Given the description of an element on the screen output the (x, y) to click on. 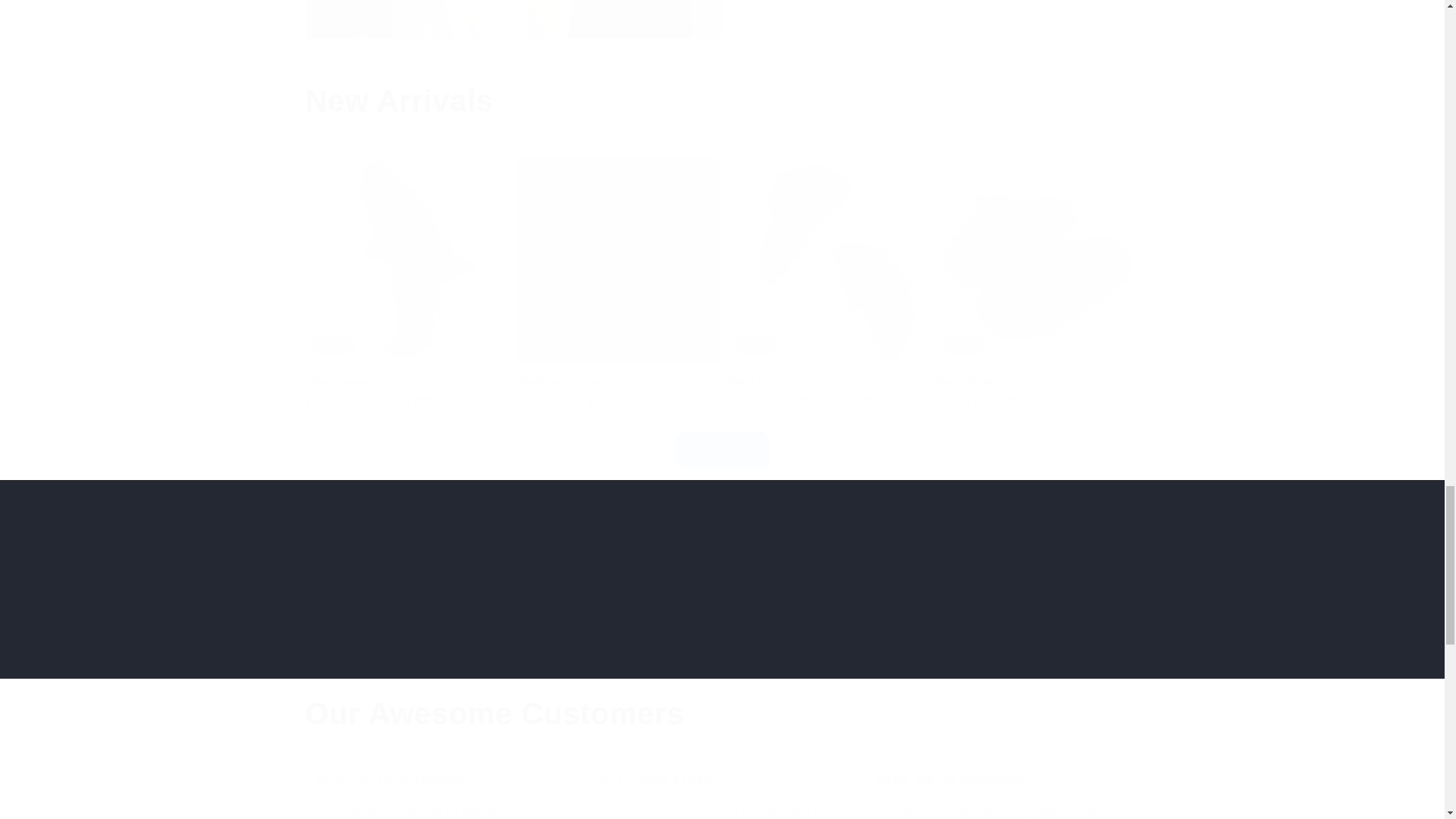
New Arrivals (721, 100)
